Given the description of an element on the screen output the (x, y) to click on. 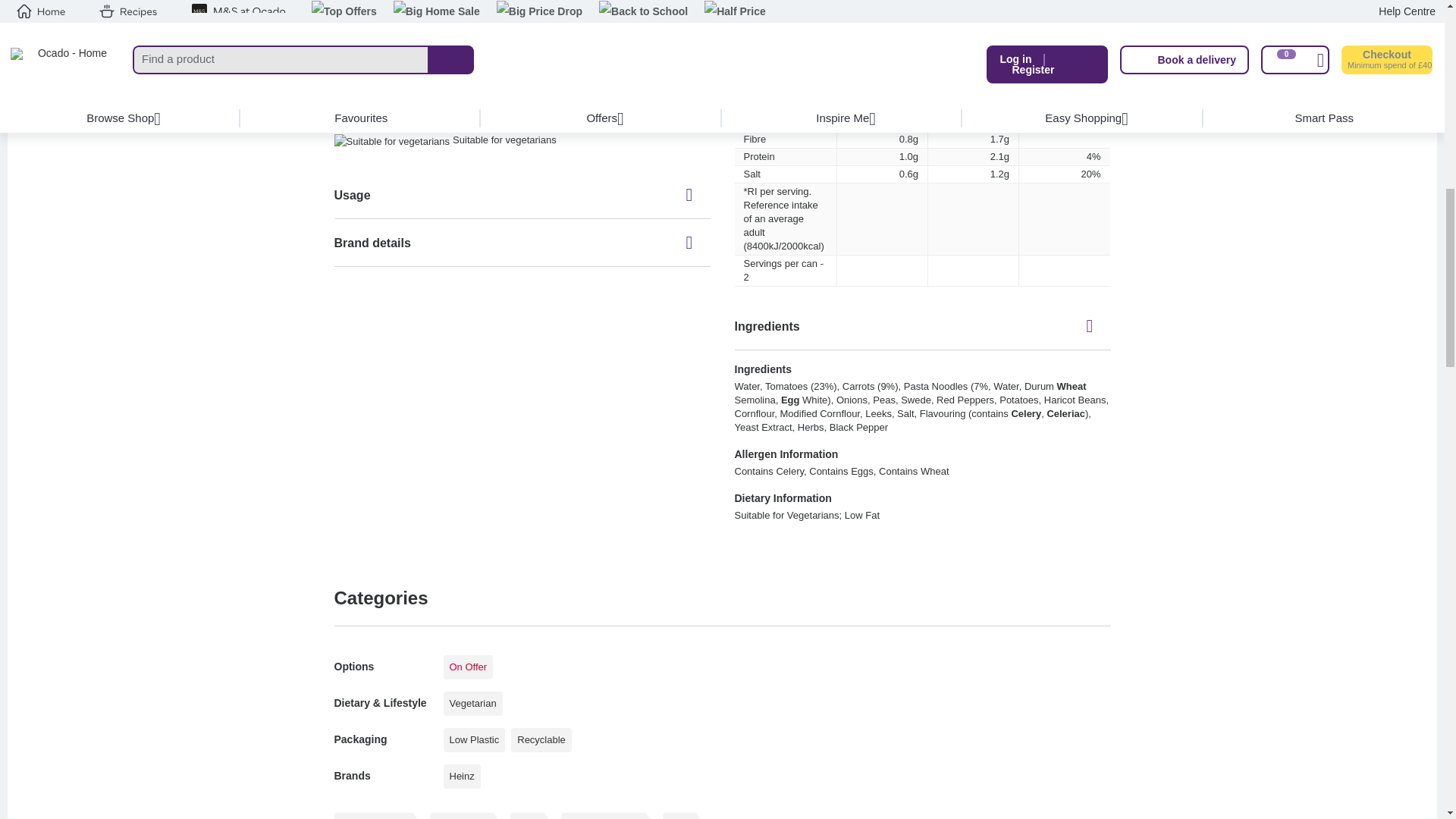
On Offer (467, 667)
Vegetarian (472, 703)
Brand details (521, 242)
Usage (521, 194)
Ingredients (921, 326)
